Given the description of an element on the screen output the (x, y) to click on. 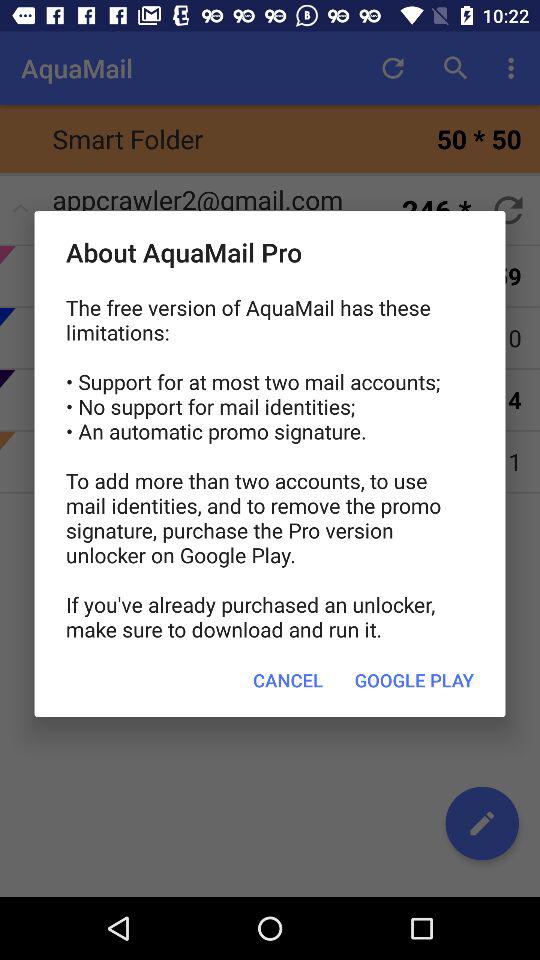
turn on the google play item (413, 679)
